Given the description of an element on the screen output the (x, y) to click on. 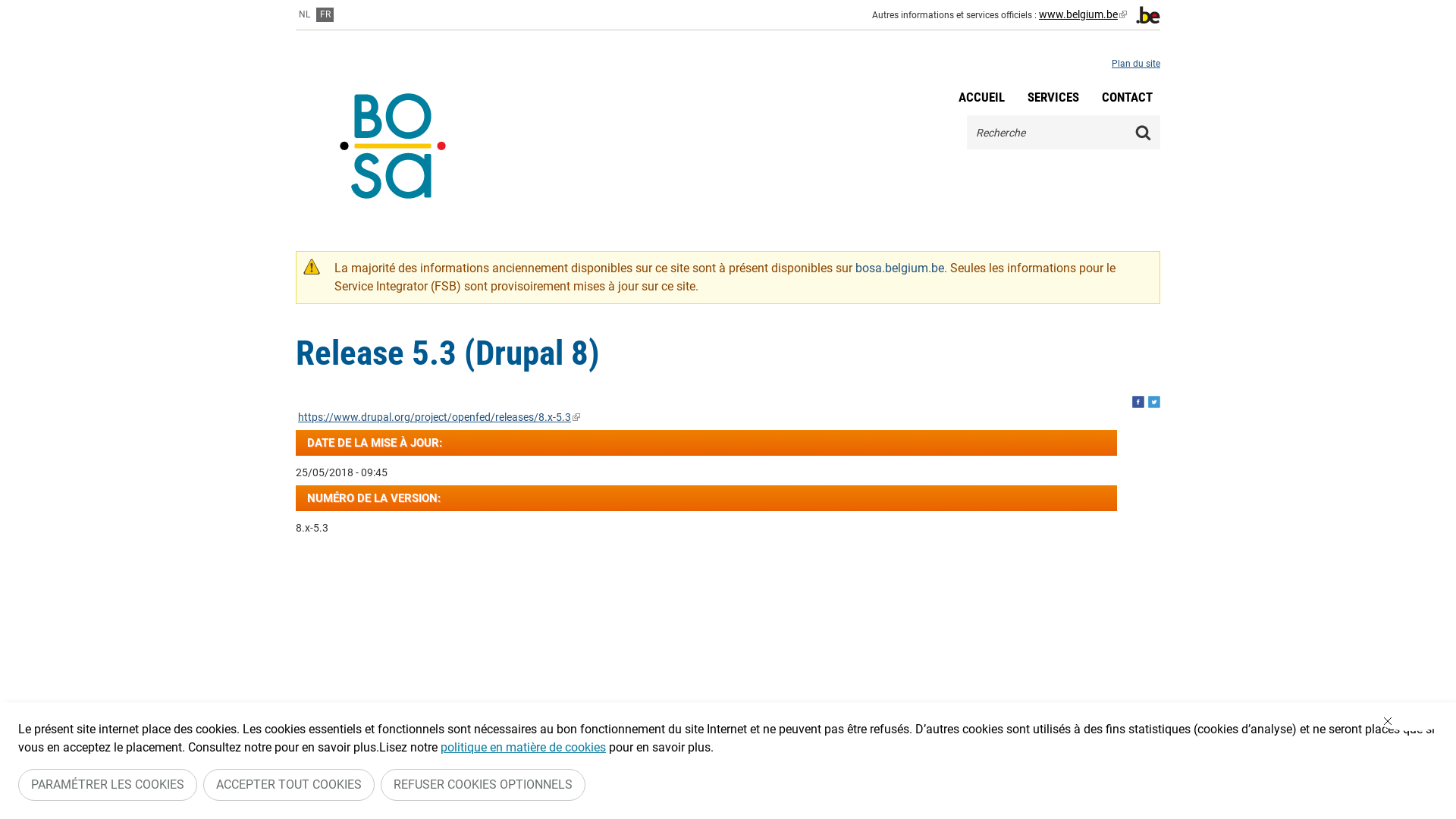
www.belgium.be
(link is external) Element type: text (1082, 14)
FR Element type: text (324, 14)
NL Element type: text (303, 14)
Return to the DG DT homepage Element type: hover (392, 145)
SPF BOSA Element type: text (1128, 800)
facebook Element type: hover (1138, 401)
SERVICES Element type: text (1053, 96)
Recherche Element type: text (1143, 132)
ACCEPTER TOUT COOKIES Element type: text (288, 784)
CONTACT Element type: text (1126, 96)
ACCUEIL Element type: text (981, 96)
Conditions d'utilisation Element type: text (600, 800)
Aller au contenu principal Element type: text (67, 0)
REFUSER COOKIES OPTIONNELS Element type: text (482, 784)
Fermer Element type: hover (1411, 721)
twitter Element type: hover (1154, 401)
A propos de ce site Element type: text (492, 800)
bosa.belgium.be Element type: text (899, 267)
Plan du site Element type: text (1135, 63)
